Given the description of an element on the screen output the (x, y) to click on. 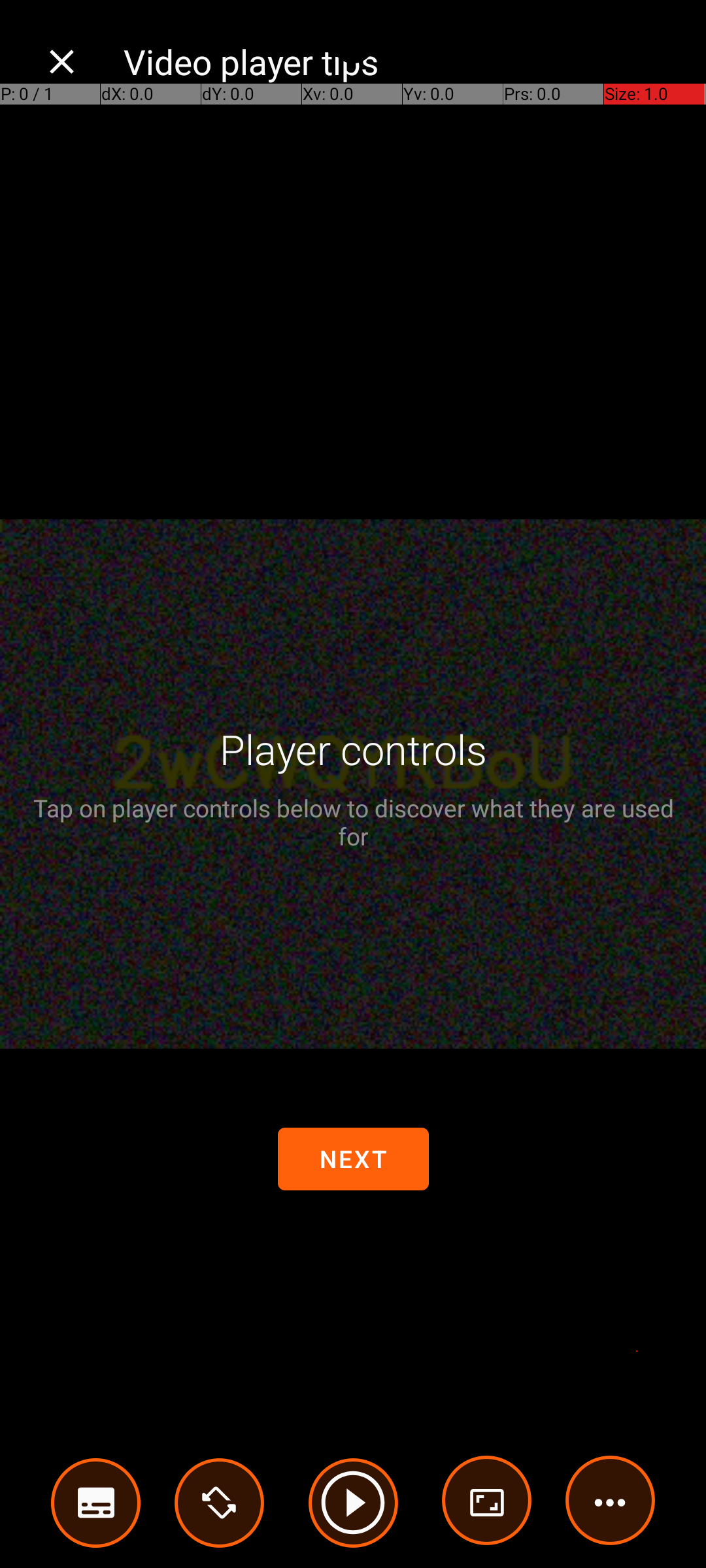
Video player. Tap to show controls. Tap the back button to hide them Element type: android.widget.FrameLayout (353, 784)
Video player tips Element type: android.widget.TextView (400, 61)
Player controls Element type: android.widget.TextView (353, 748)
Tap on player controls below to discover what they are used for Element type: android.widget.TextView (352, 821)
advanced options Element type: android.widget.ImageView (486, 1502)
